Given the description of an element on the screen output the (x, y) to click on. 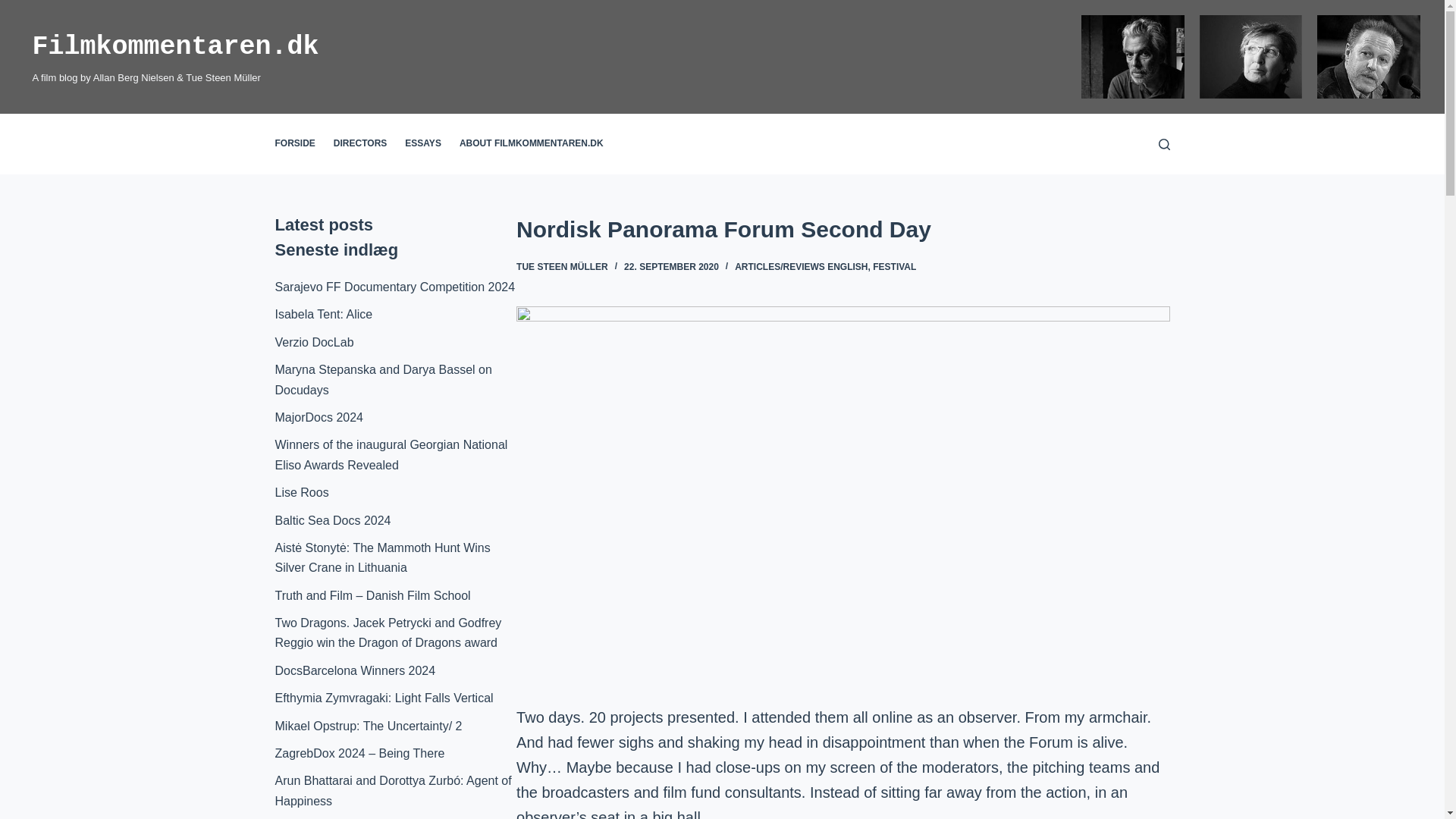
Nordisk Panorama Forum Second Day (842, 229)
Sarajevo FF Documentary Competition 2024 (395, 286)
Isabela Tent: Alice (323, 314)
MajorDocs 2024 (318, 417)
Verzio DocLab (314, 341)
Filmkommentaren.dk (175, 46)
DIRECTORS (360, 143)
Baltic Sea Docs 2024 (332, 520)
Skip to content (15, 7)
Lise Roos (302, 492)
FESTIVAL (893, 266)
ABOUT FILMKOMMENTAREN.DK (530, 143)
Maryna Stepanska and Darya Bassel on Docudays (383, 379)
